Given the description of an element on the screen output the (x, y) to click on. 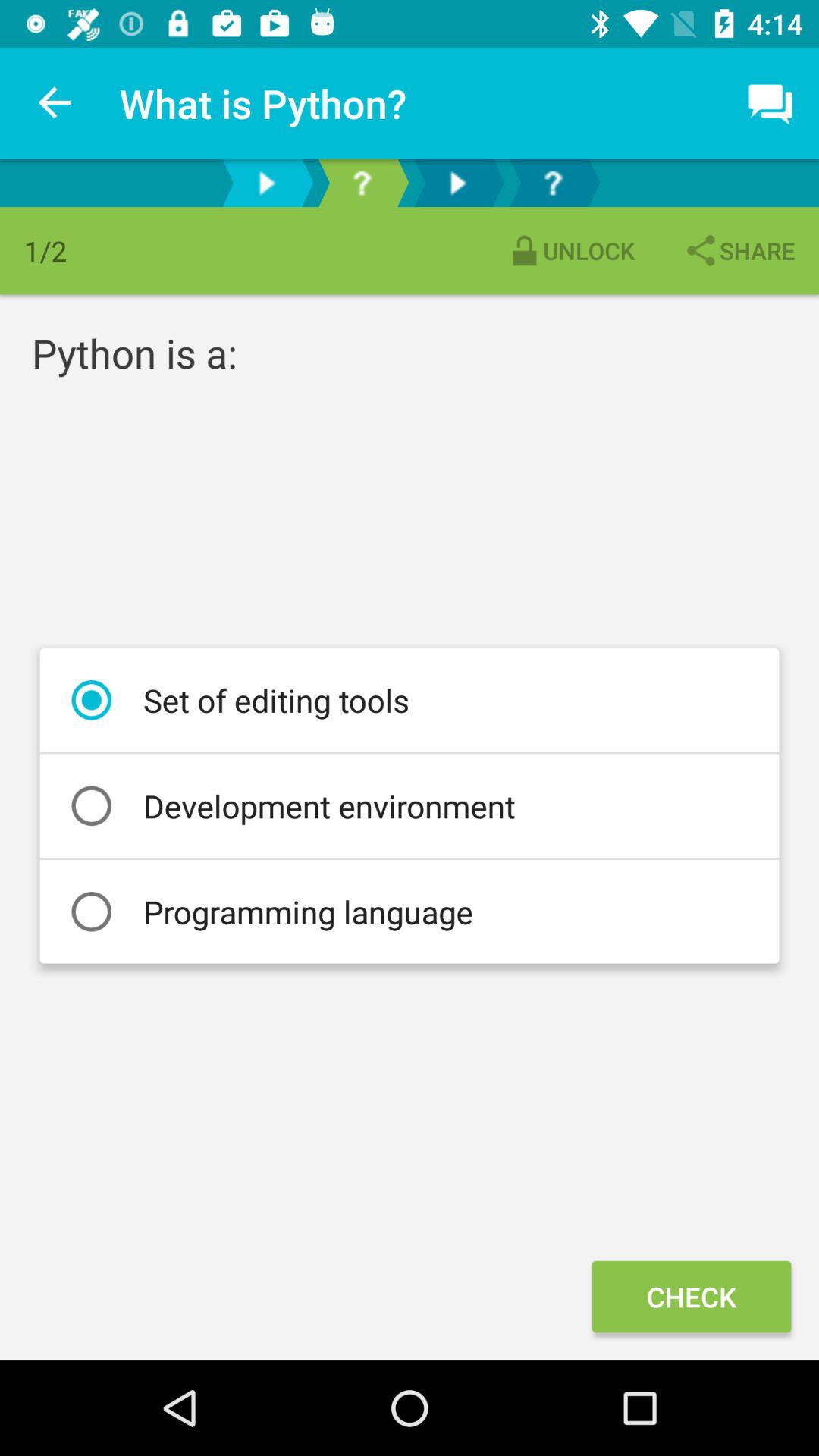
turn off the item above the share (771, 103)
